Given the description of an element on the screen output the (x, y) to click on. 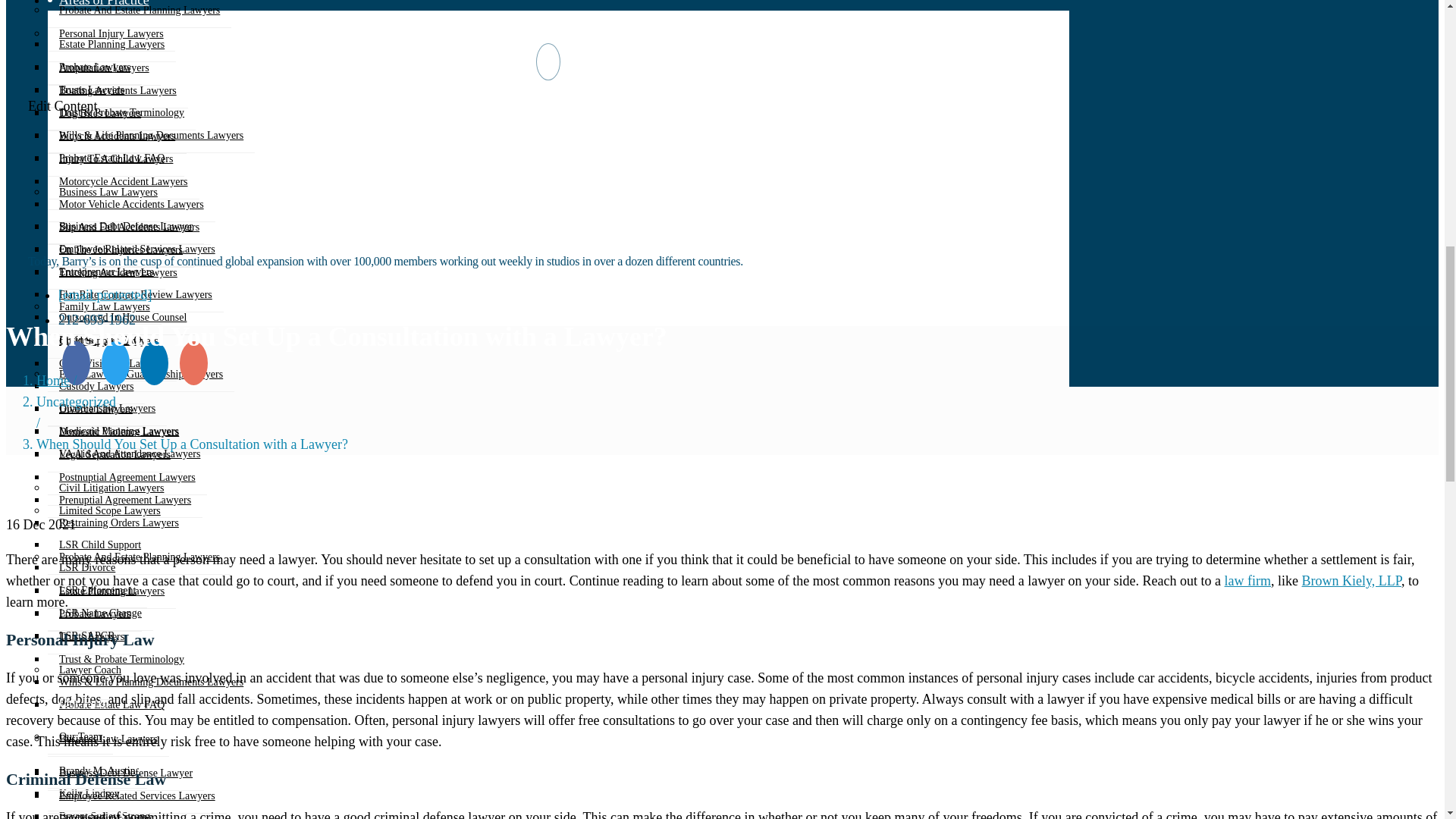
Business Law Lawyers (108, 192)
Trusts Lawyers (91, 89)
Probate Estate Law FAQ (112, 157)
Estate Planning Lawyers (112, 44)
Flat-Rate Contract Review Lawyers (136, 294)
Employee Related Services Lawyers (137, 248)
Outsourced In House Counsel (123, 317)
Business Debt Defense Lawyer (125, 226)
Business Law FAQ (100, 339)
Probate And Estate Planning Lawyers (139, 13)
